Given the description of an element on the screen output the (x, y) to click on. 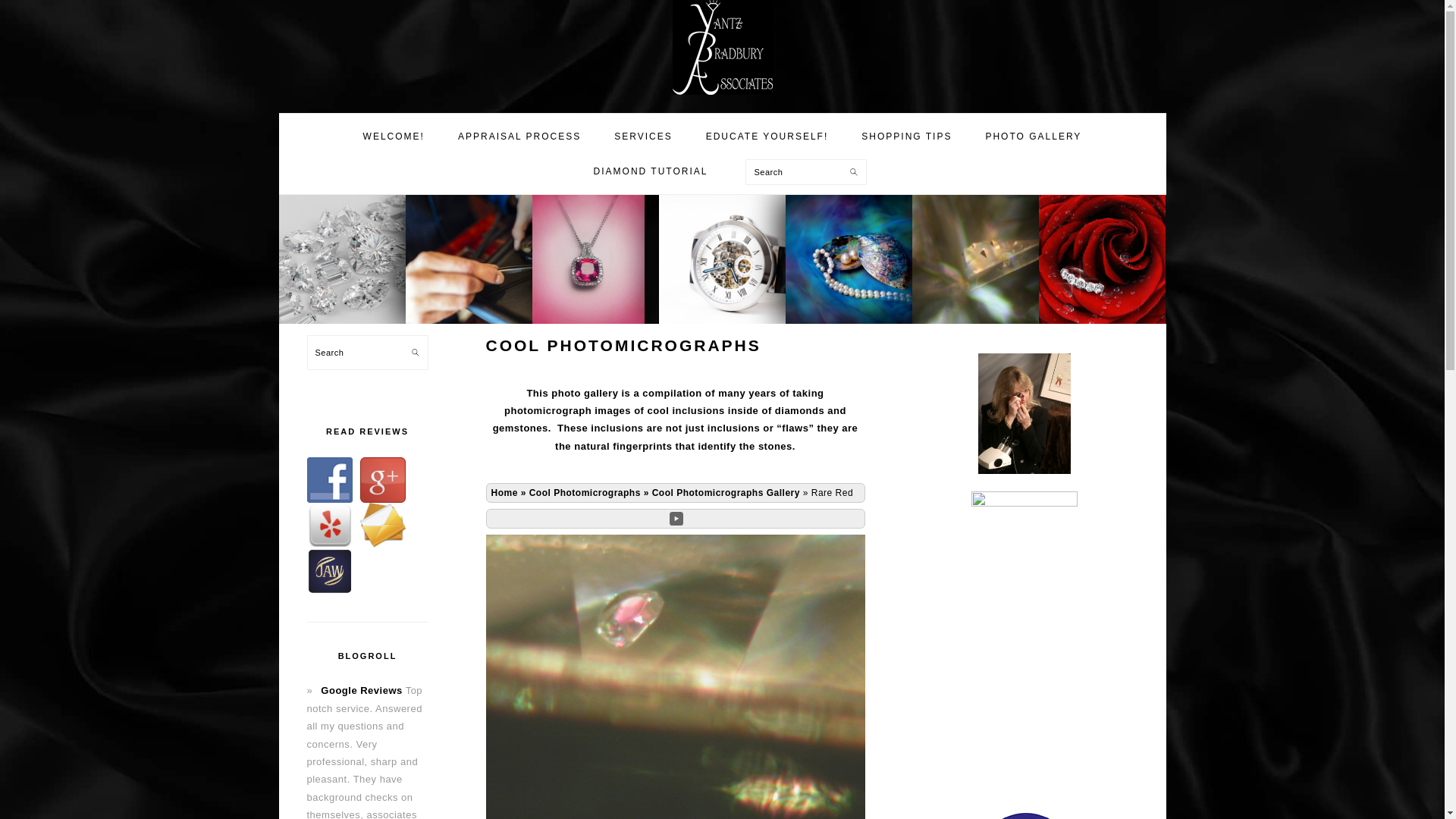
Watch (755, 258)
photo gallery (998, 258)
Appraiser Working (502, 258)
Diamonds (361, 258)
Page: Cool Photomicrographs (584, 492)
Album: Cool Photomicrographs Gallery (725, 492)
Jewelry Appraiser in Rockville MD (721, 47)
SHOPPING TIPS (906, 135)
SERVICES (642, 135)
